Given the description of an element on the screen output the (x, y) to click on. 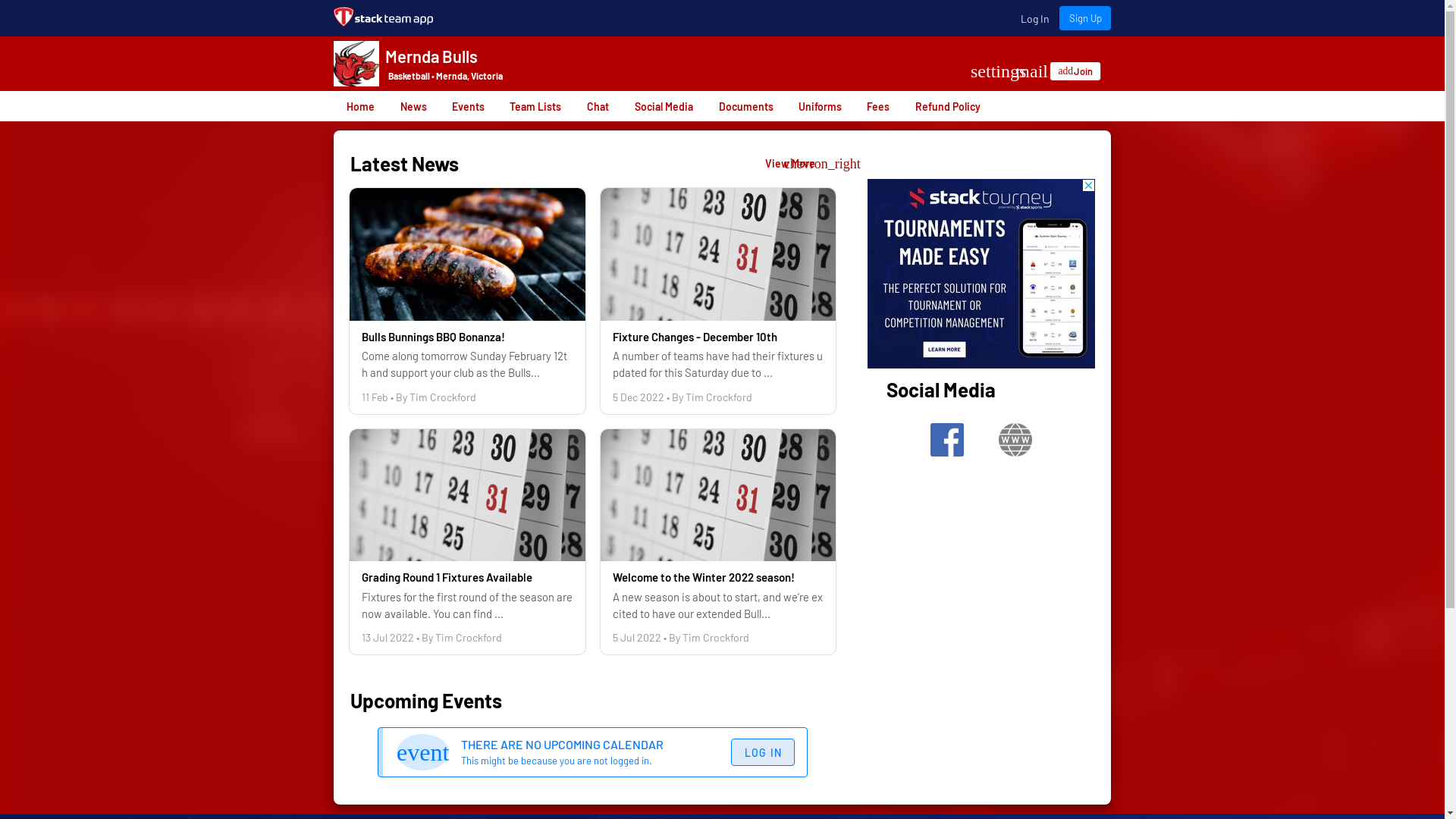
News Element type: text (412, 105)
Social Media Element type: text (663, 105)
LOG IN Element type: text (763, 751)
Latest News Element type: text (398, 163)
mail Element type: text (1031, 70)
Refund Policy Element type: text (947, 105)
Team Lists Element type: text (534, 105)
Fees Element type: text (877, 105)
Social Media Element type: text (941, 389)
Sign Up Element type: text (1084, 18)
Chat Element type: text (597, 105)
Log In Element type: text (1034, 18)
Uniforms Element type: text (819, 105)
Documents Element type: text (744, 105)
Home Element type: text (359, 105)
settings Element type: text (998, 70)
Upcoming Events Element type: text (427, 700)
View More
chevron_right Element type: text (796, 163)
Events Element type: text (466, 105)
add
Join Element type: text (1079, 72)
